Given the description of an element on the screen output the (x, y) to click on. 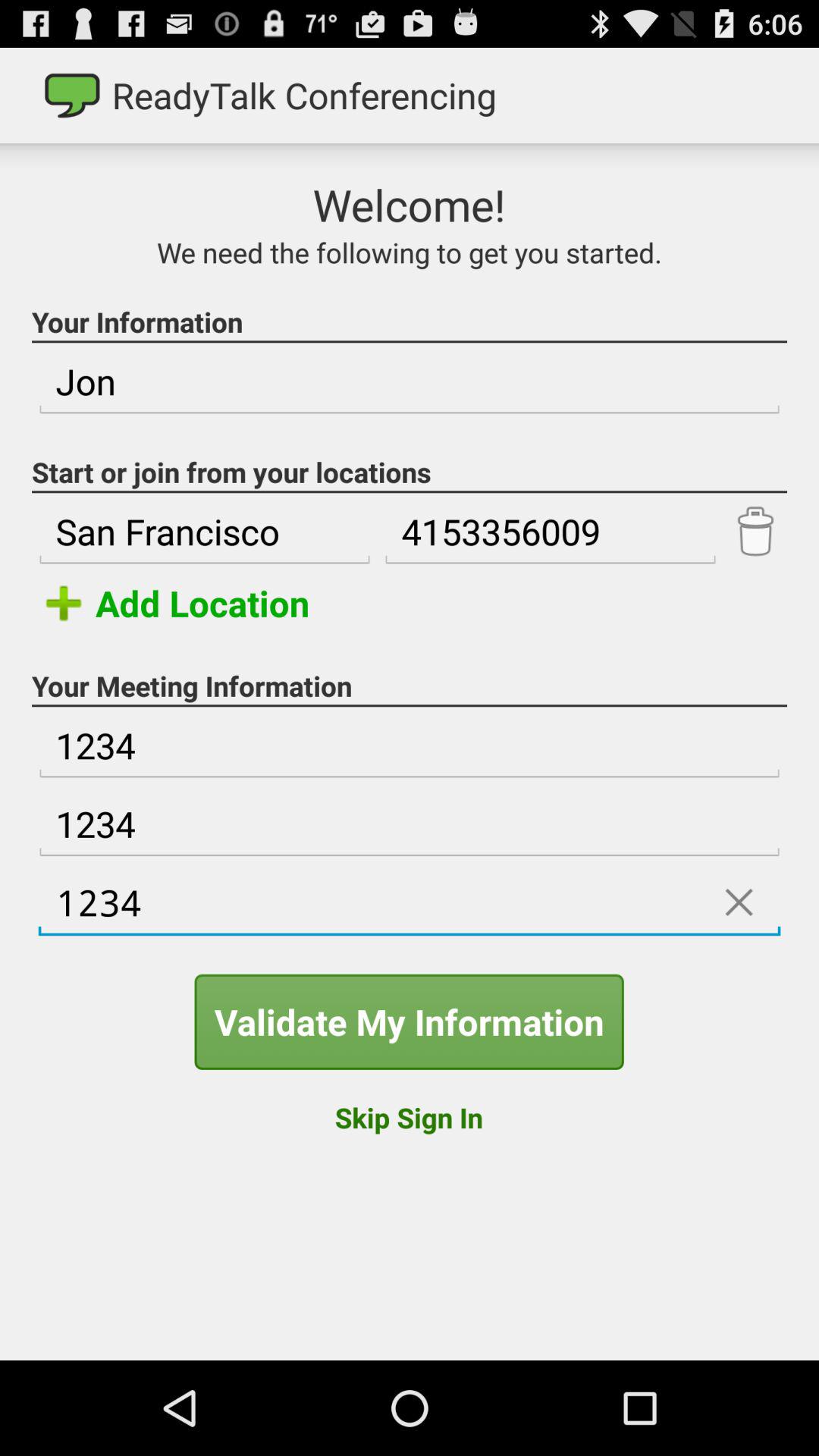
turn off validate my information item (408, 1021)
